Given the description of an element on the screen output the (x, y) to click on. 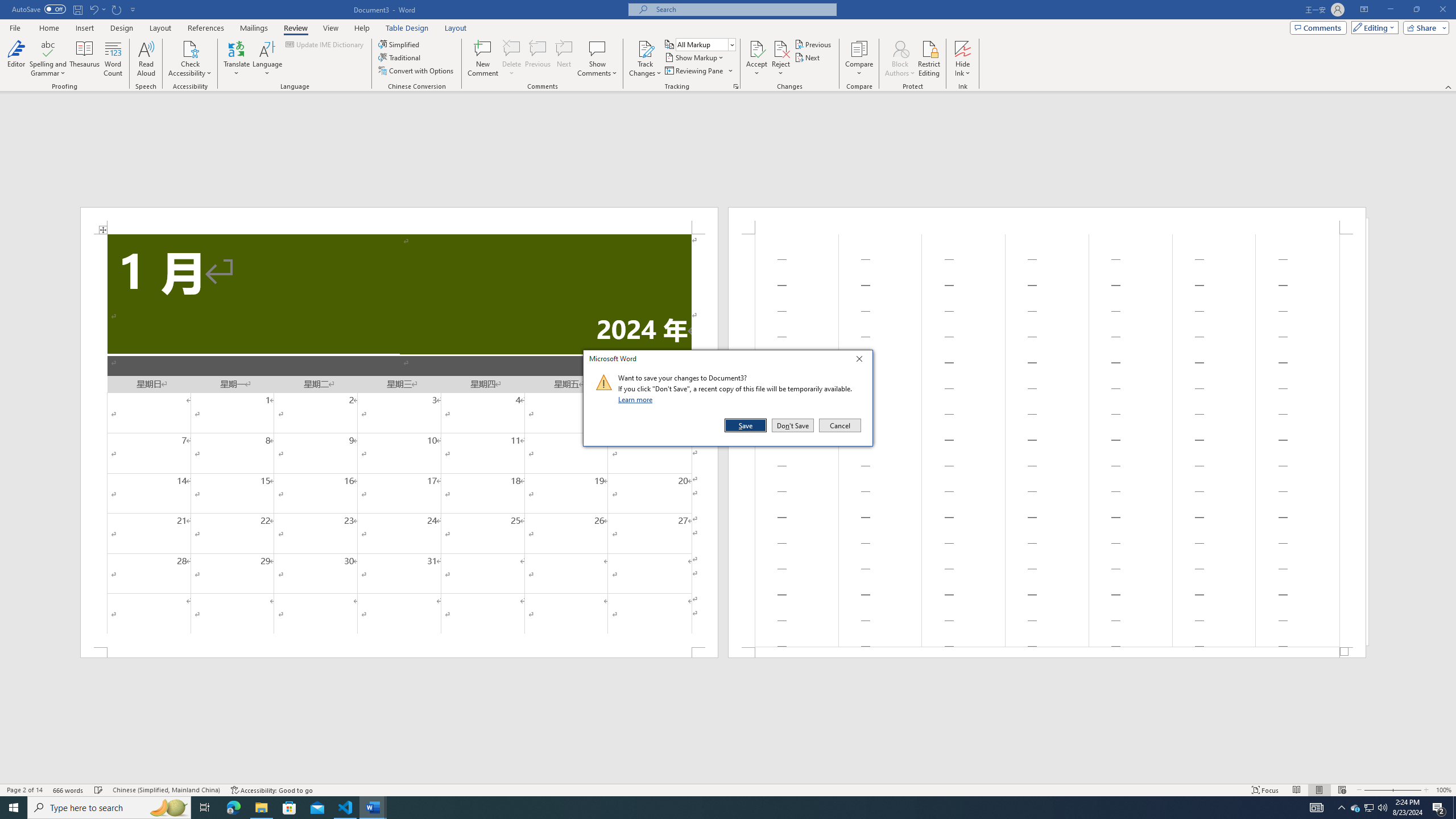
Word Count 666 words (68, 790)
Track Changes (644, 48)
New Comment (482, 58)
Don't Save (792, 425)
Next (1368, 807)
Hide Ink (808, 56)
Learn more (962, 58)
Convert with Options... (636, 399)
